Given the description of an element on the screen output the (x, y) to click on. 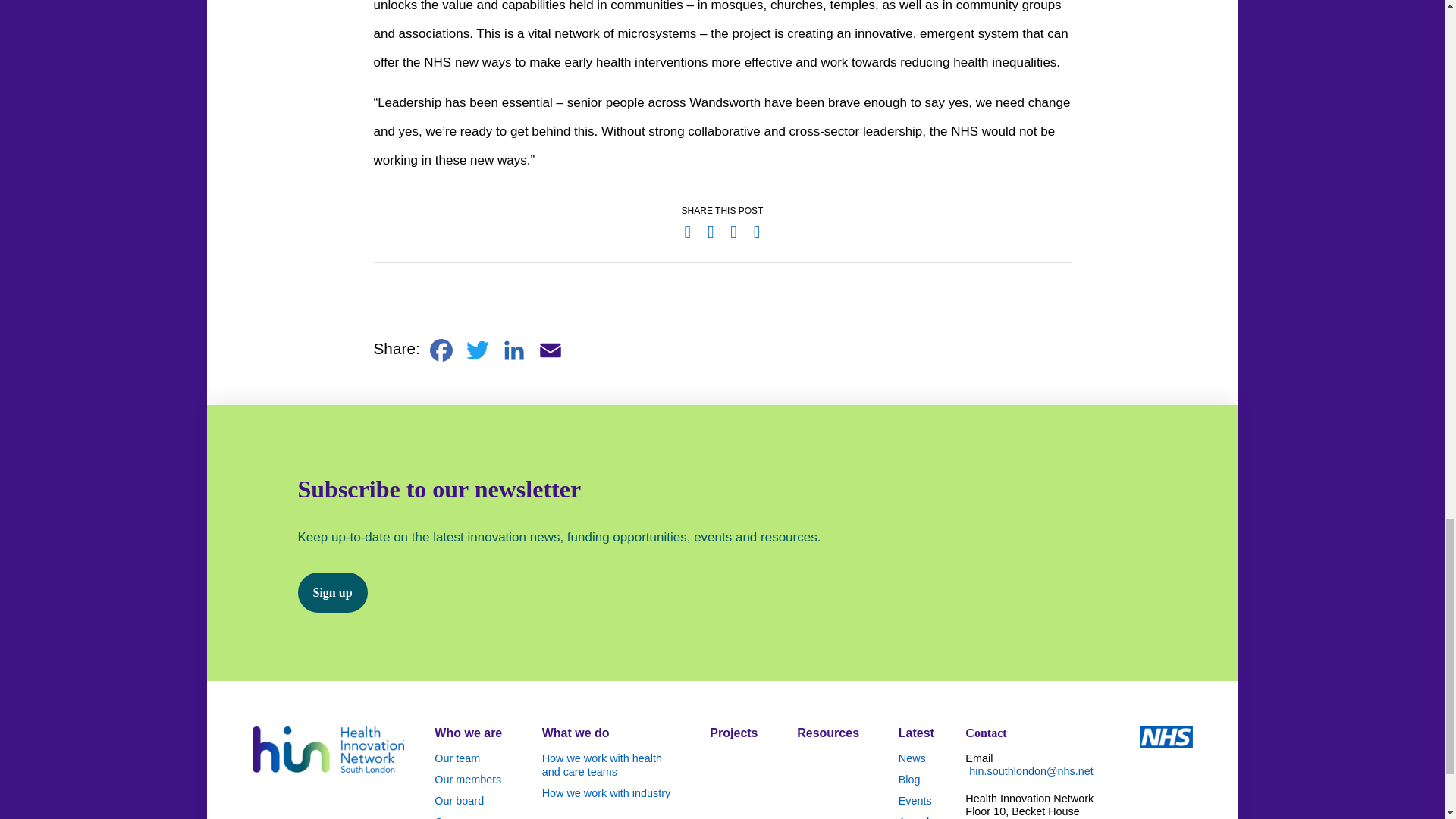
Facebook (441, 350)
LinkedIn (514, 350)
Twitter (478, 350)
Email (550, 350)
Facebook (441, 350)
Twitter (478, 350)
LinkedIn (514, 350)
Email (550, 350)
